Given the description of an element on the screen output the (x, y) to click on. 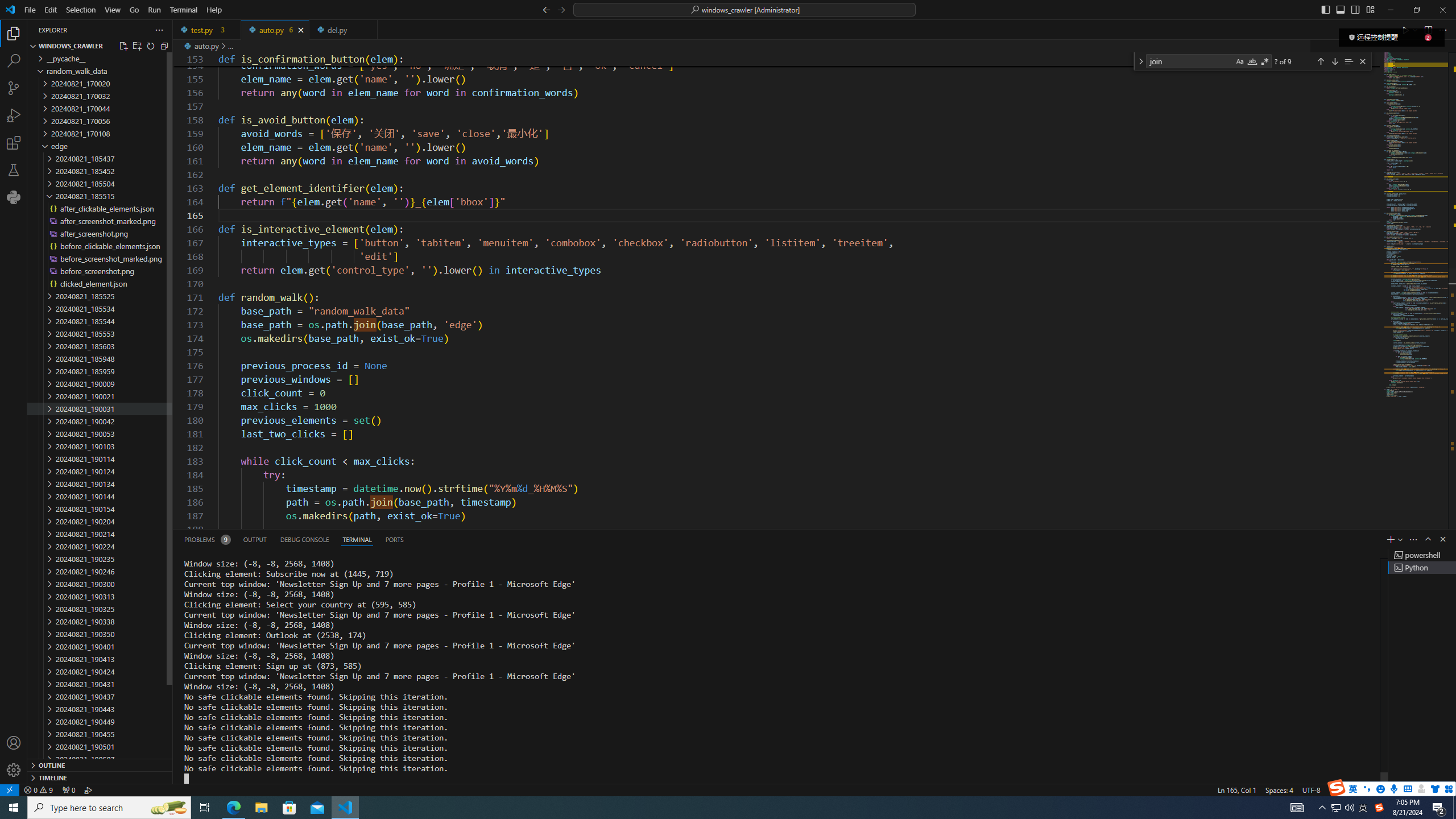
Close (Escape) (1362, 60)
Search (Ctrl+Shift+F) (13, 60)
Toggle Primary Side Bar (Ctrl+B) (1325, 9)
Views and More Actions... (1412, 539)
Timeline Section (99, 777)
Debug:  (88, 789)
Find (1190, 60)
Output (Ctrl+Shift+U) (254, 539)
Debug Console (Ctrl+Shift+Y) (304, 539)
Terminal (183, 9)
Python (1373, 789)
Previous Match (Shift+Enter) (1320, 60)
Warnings: 9 (37, 789)
Collapse Folders in Explorer (164, 45)
Toggle Panel (Ctrl+J) (1339, 9)
